Given the description of an element on the screen output the (x, y) to click on. 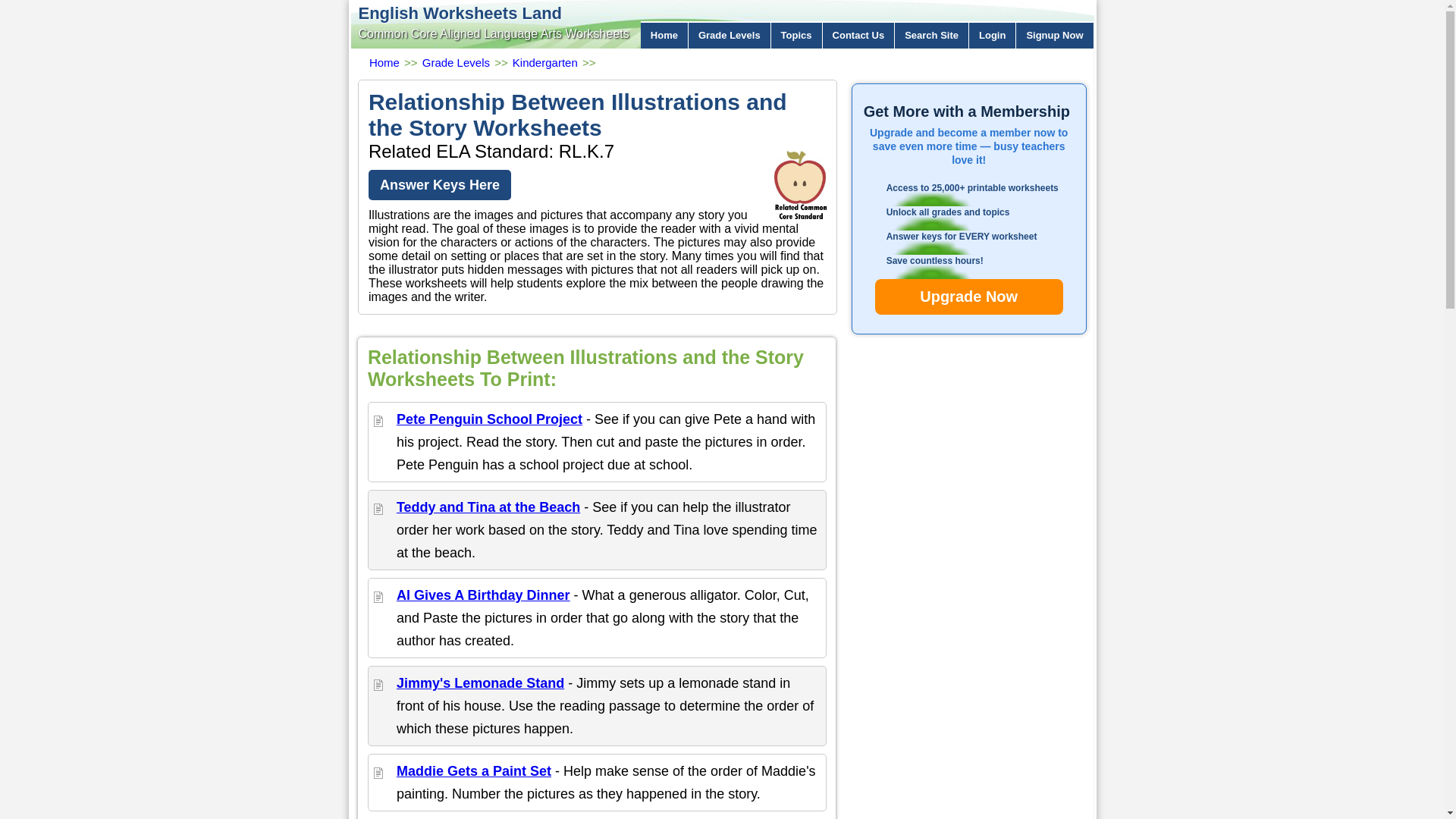
Upgrade Now (968, 296)
Signup Now (1054, 35)
Home (383, 62)
Grade Levels (729, 35)
Kindergarten (545, 62)
Pete Penguin School Project (489, 418)
Grade Levels (455, 62)
Topics (796, 35)
Answer Keys Here (439, 184)
Login (992, 35)
Search Site (932, 35)
Home (664, 35)
Contact Us (858, 35)
Al Gives A Birthday Dinner (483, 595)
Teddy and Tina at the Beach (487, 507)
